Given the description of an element on the screen output the (x, y) to click on. 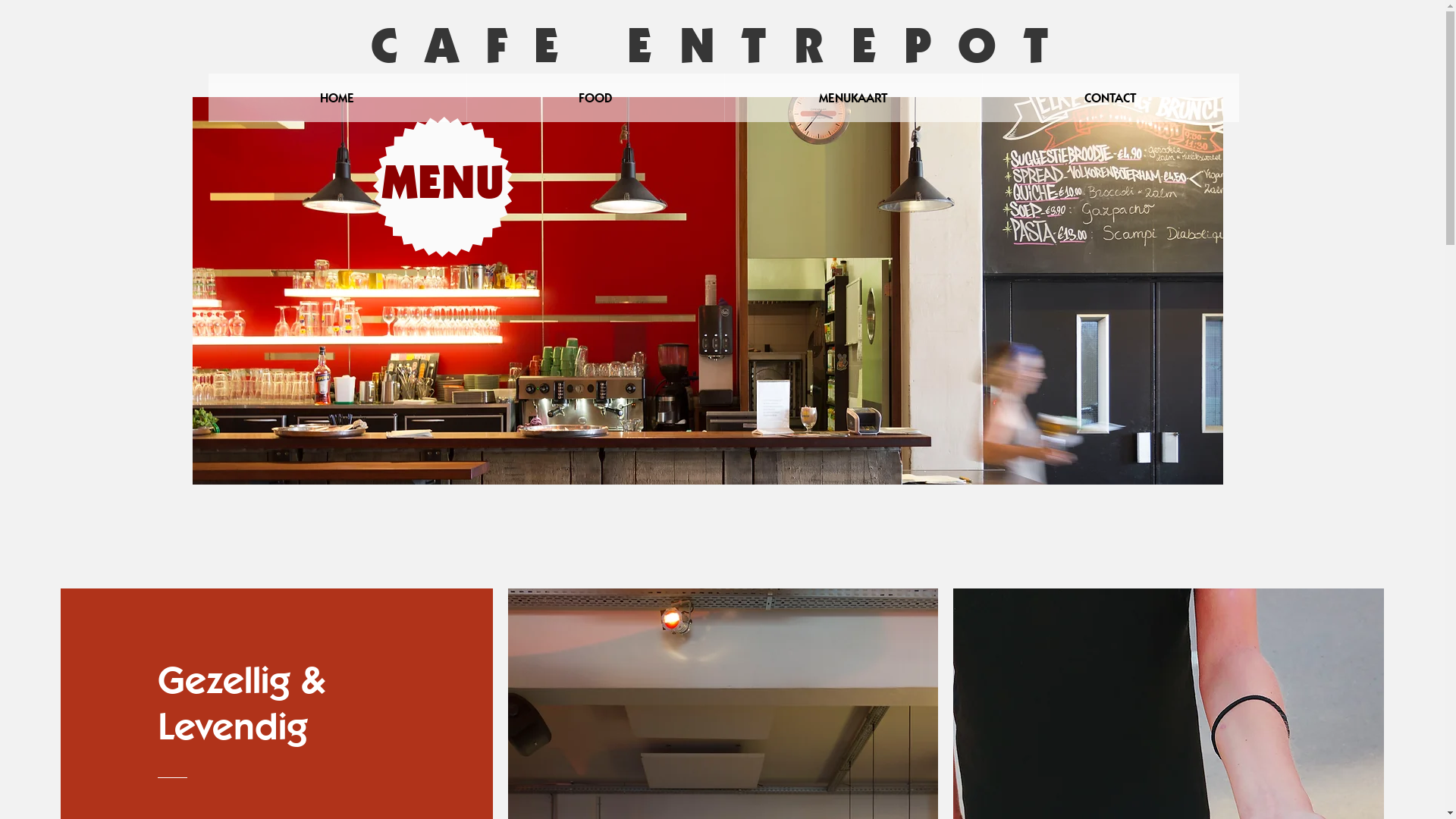
FOOD Element type: text (594, 97)
MENU Element type: text (442, 187)
MENUKAART Element type: text (852, 97)
HOME Element type: text (336, 97)
CONTACT Element type: text (1109, 97)
CAFE ENTREPOT Element type: text (723, 44)
